Given the description of an element on the screen output the (x, y) to click on. 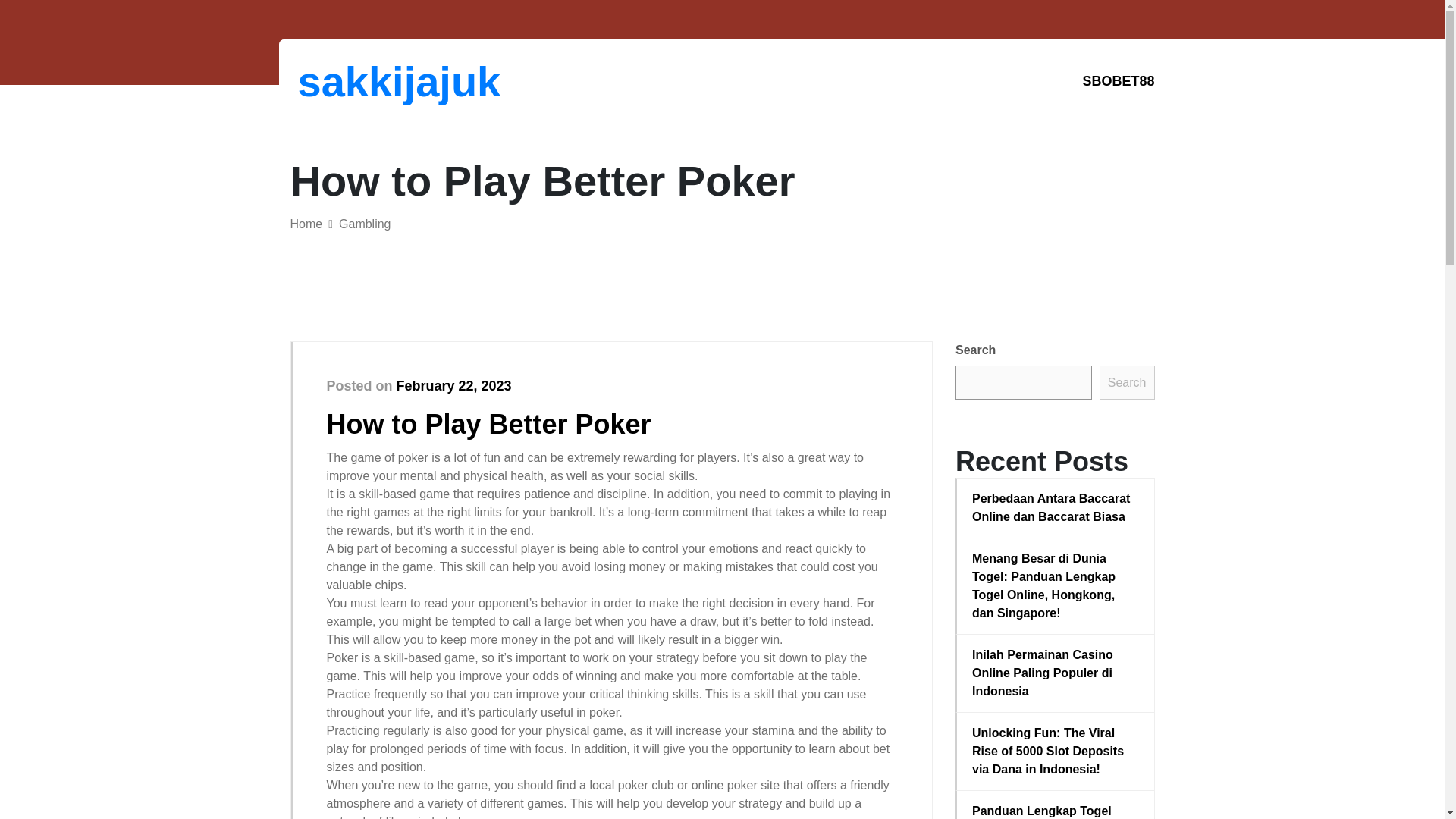
Gambling (364, 223)
February 22, 2023 (454, 385)
Inilah Permainan Casino Online Paling Populer di Indonesia (1055, 673)
Search (1126, 382)
Perbedaan Antara Baccarat Online dan Baccarat Biasa (1055, 507)
Home (305, 223)
SBOBET88 (1117, 81)
SBOBET88 (1117, 81)
How to Play Better Poker (488, 423)
